Given the description of an element on the screen output the (x, y) to click on. 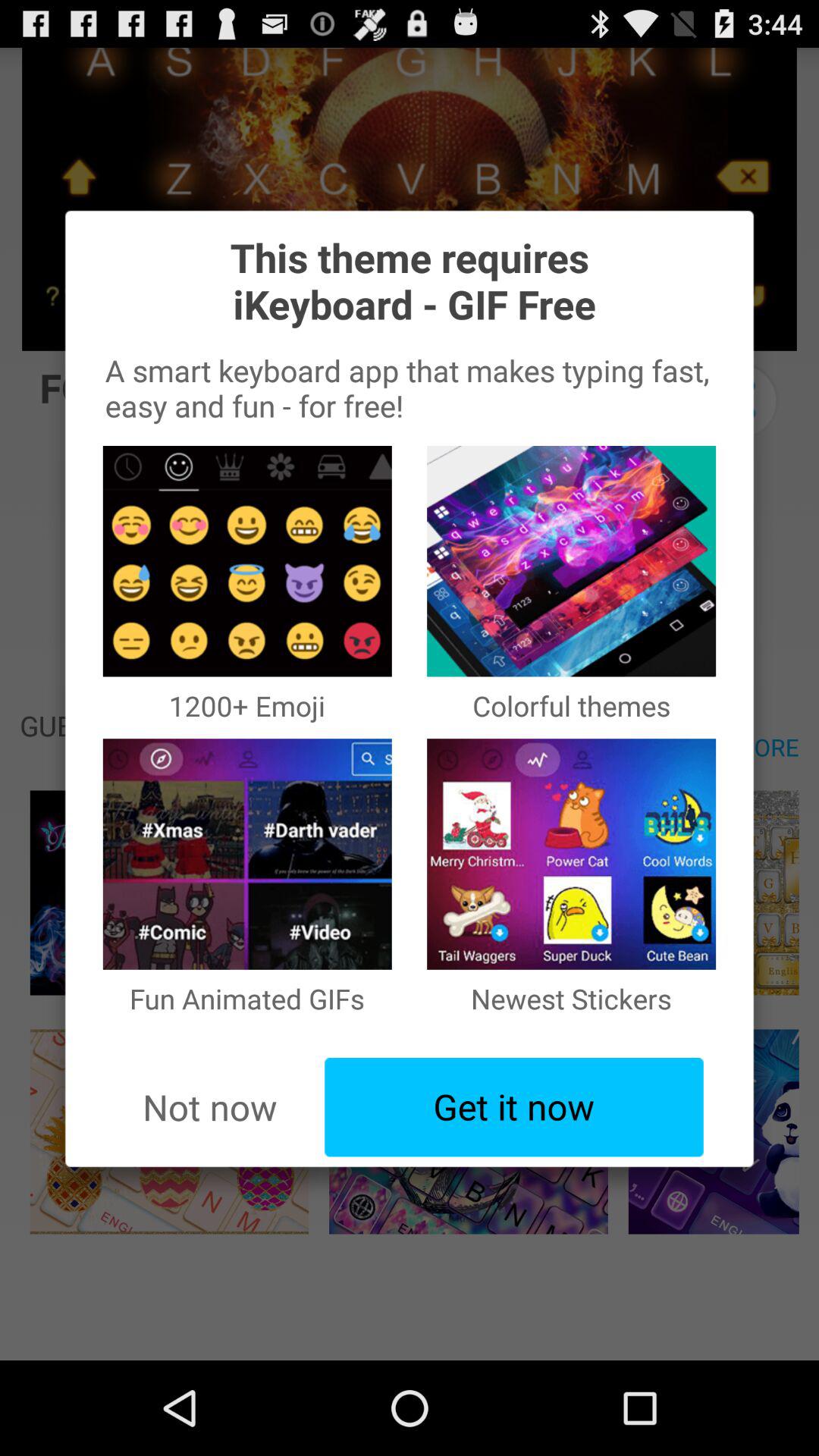
jump until get it now button (513, 1106)
